Given the description of an element on the screen output the (x, y) to click on. 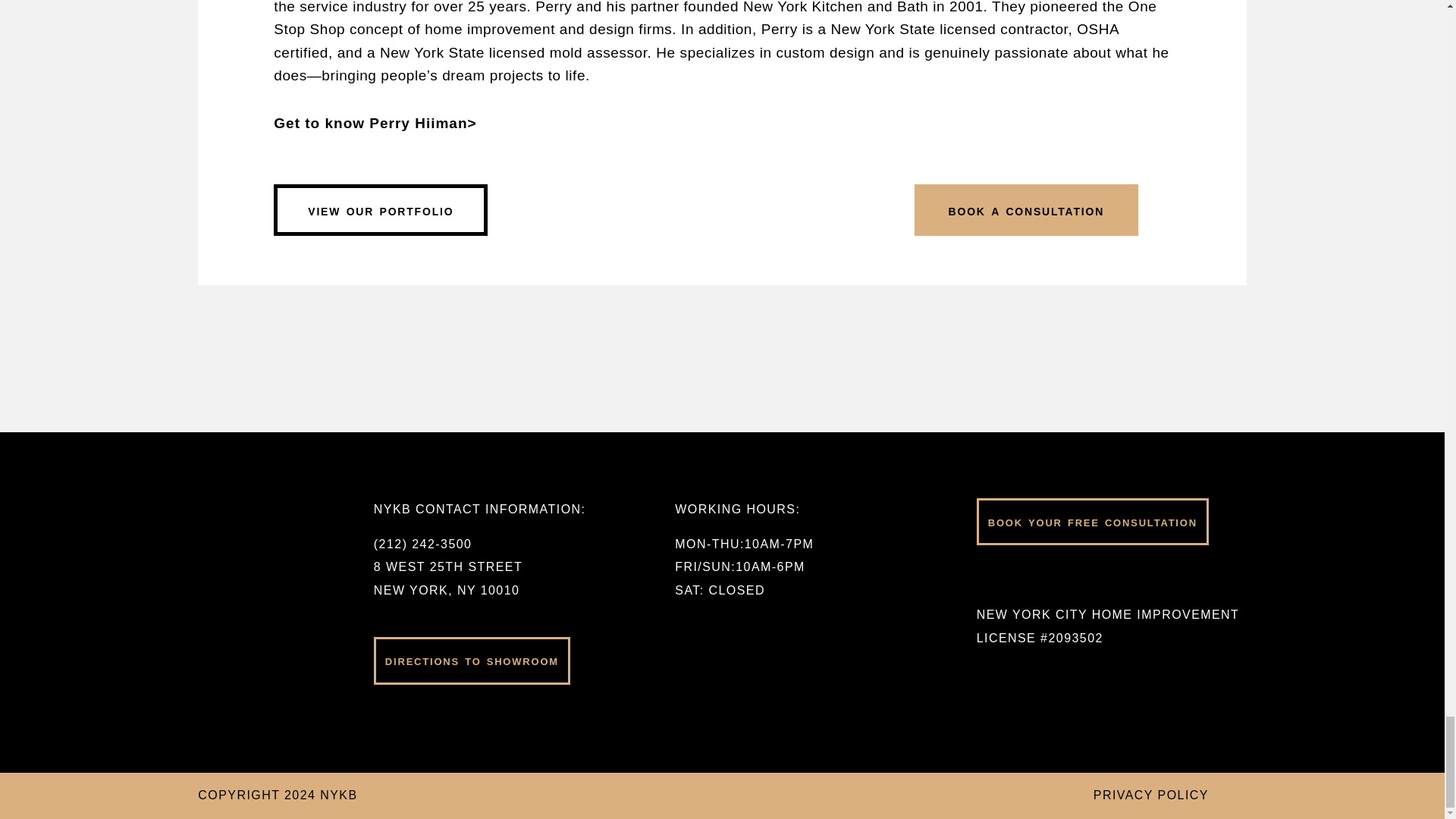
Follow on Youtube (1134, 578)
Follow on Facebook (1060, 578)
Follow on Pinterest (985, 578)
Follow on Instagram (1019, 578)
Follow on X (1093, 578)
